Given the description of an element on the screen output the (x, y) to click on. 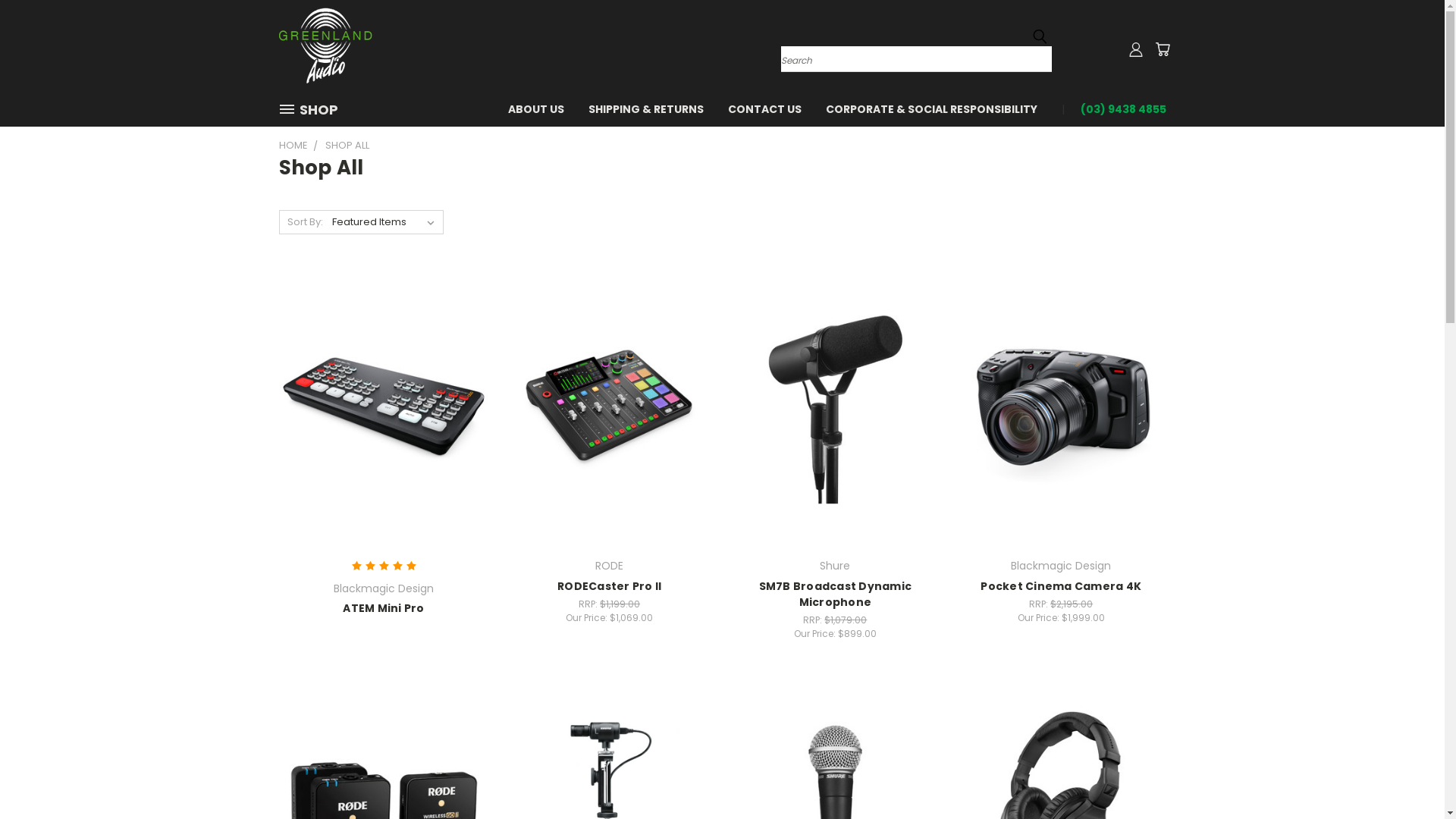
Shure SM7B Element type: hover (835, 409)
RODECaster Pro II Hero Element type: hover (609, 409)
SM7B Broadcast Dynamic Microphone Element type: text (835, 593)
Greenland Audio Element type: hover (325, 45)
Blackmagic Pocket Cinema Camera 4K Element type: hover (1061, 409)
RODECaster Pro II Element type: text (609, 585)
(03) 9438 4855 Element type: text (1116, 108)
User Toolbox Element type: hover (1135, 48)
ATEM Mini Pro Element type: text (382, 607)
Blackmagic Design ATEM Mini Pro Element type: hover (384, 409)
SHIPPING & RETURNS Element type: text (645, 108)
SHOP Element type: text (314, 109)
Submit Search Element type: hover (1039, 35)
Pocket Cinema Camera 4K Element type: text (1060, 585)
CORPORATE & SOCIAL RESPONSIBILITY Element type: text (930, 108)
HOME Element type: text (293, 145)
ABOUT US Element type: text (535, 108)
CONTACT US Element type: text (764, 108)
